Given the description of an element on the screen output the (x, y) to click on. 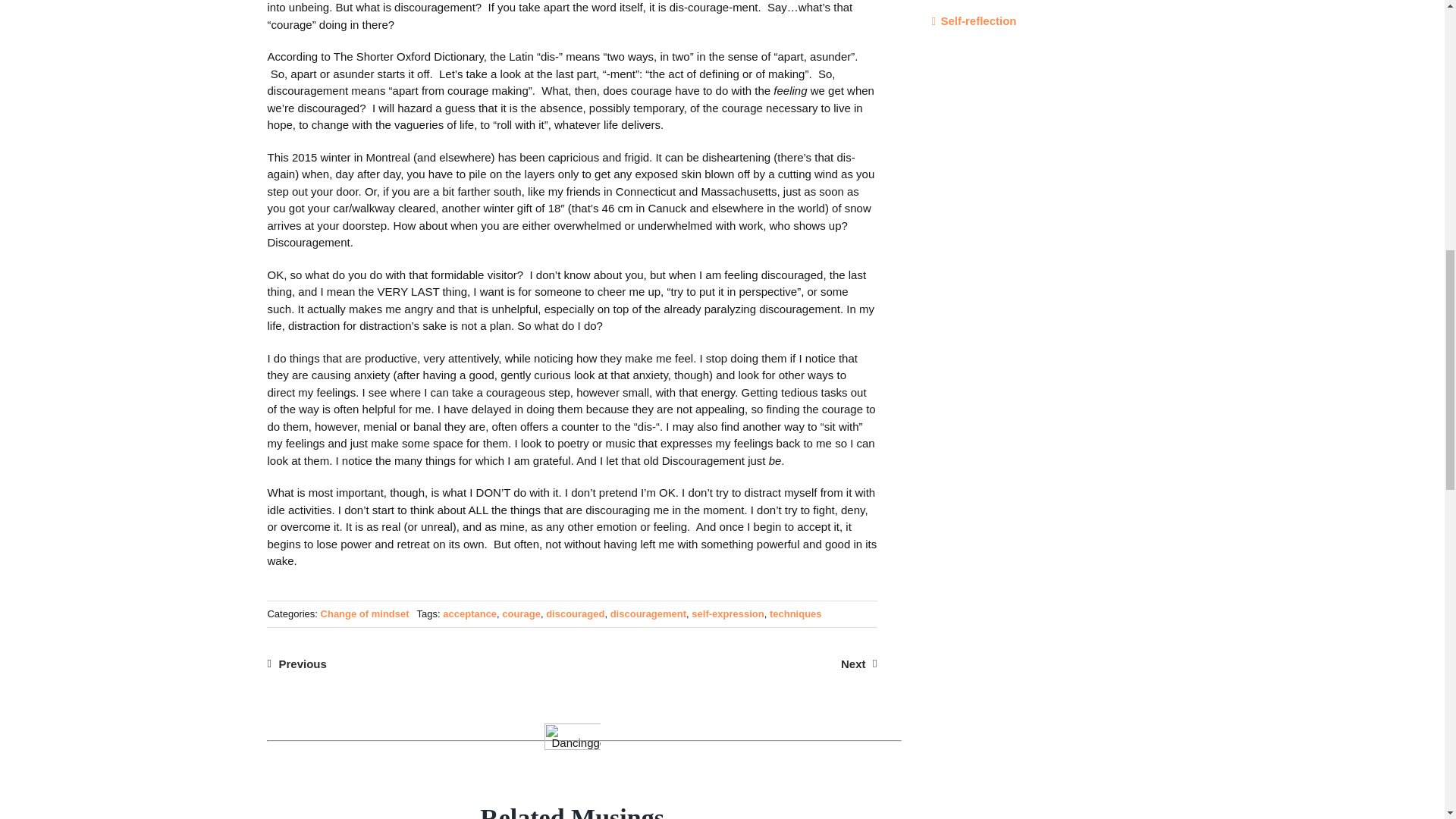
Dancinggecko (571, 740)
